Given the description of an element on the screen output the (x, y) to click on. 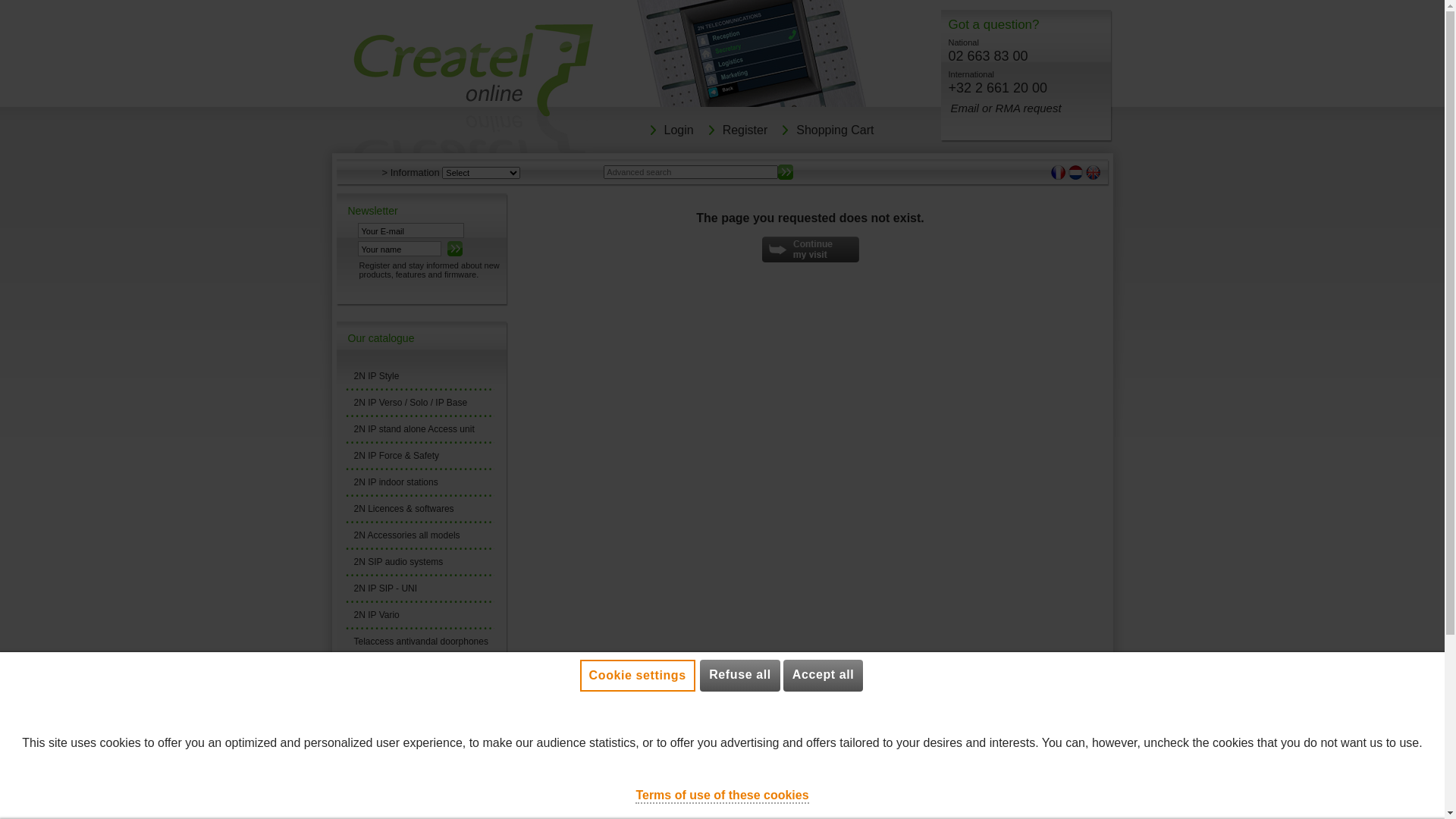
Call recorders Element type: text (418, 720)
Shopping Cart Element type: text (835, 132)
Siedle, video products Element type: text (418, 694)
Telaccess antivandal doorphones Element type: text (418, 641)
2N IP Style Element type: text (418, 375)
2N IP Verso / Solo / IP Base Element type: text (418, 402)
Refuse all Element type: text (739, 674)
2N IP Force & Safety Element type: text (418, 455)
Installation on site (B) Element type: text (418, 800)
2N IP indoor stations Element type: text (418, 481)
Email or RMA request Element type: text (1005, 107)
Register Element type: text (746, 132)
Terms of use of these cookies Element type: text (721, 794)
Createl Online Element type: hover (473, 88)
Login Element type: text (679, 132)
Accept all Element type: text (823, 674)
2N SIP audio systems Element type: text (418, 561)
Music on hold Element type: text (418, 773)
2N IP Vario Element type: text (418, 614)
Cookie settings Element type: text (637, 675)
Siede, audio products Element type: text (418, 667)
Fax servers Vidicode Element type: text (418, 747)
2N Accessories all models Element type: text (418, 535)
2N IP stand alone Access unit Element type: text (418, 428)
2N IP SIP - UNI Element type: text (418, 588)
2N Licences & softwares Element type: text (418, 508)
 GO  Element type: hover (785, 171)
Back to welcome page Element type: hover (809, 249)
